Given the description of an element on the screen output the (x, y) to click on. 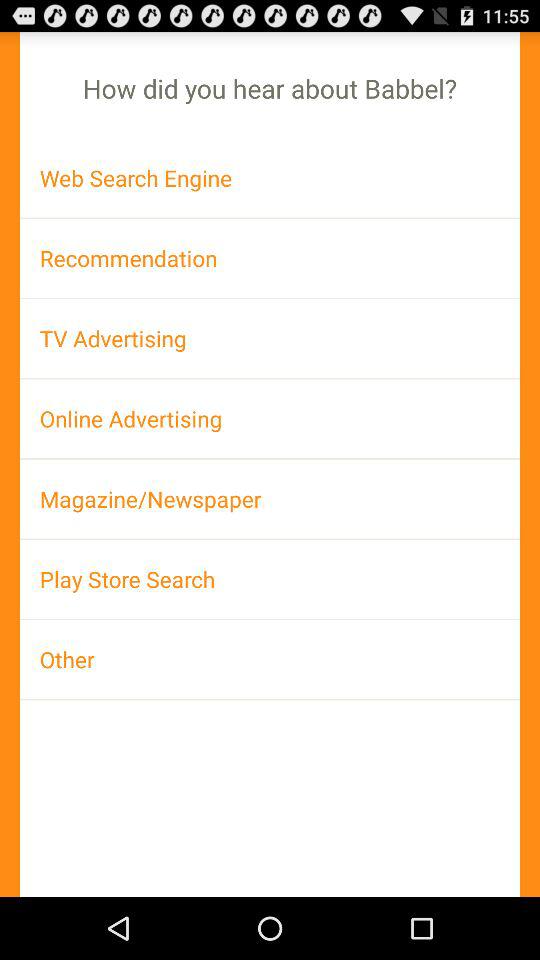
open app below the web search engine icon (269, 258)
